Given the description of an element on the screen output the (x, y) to click on. 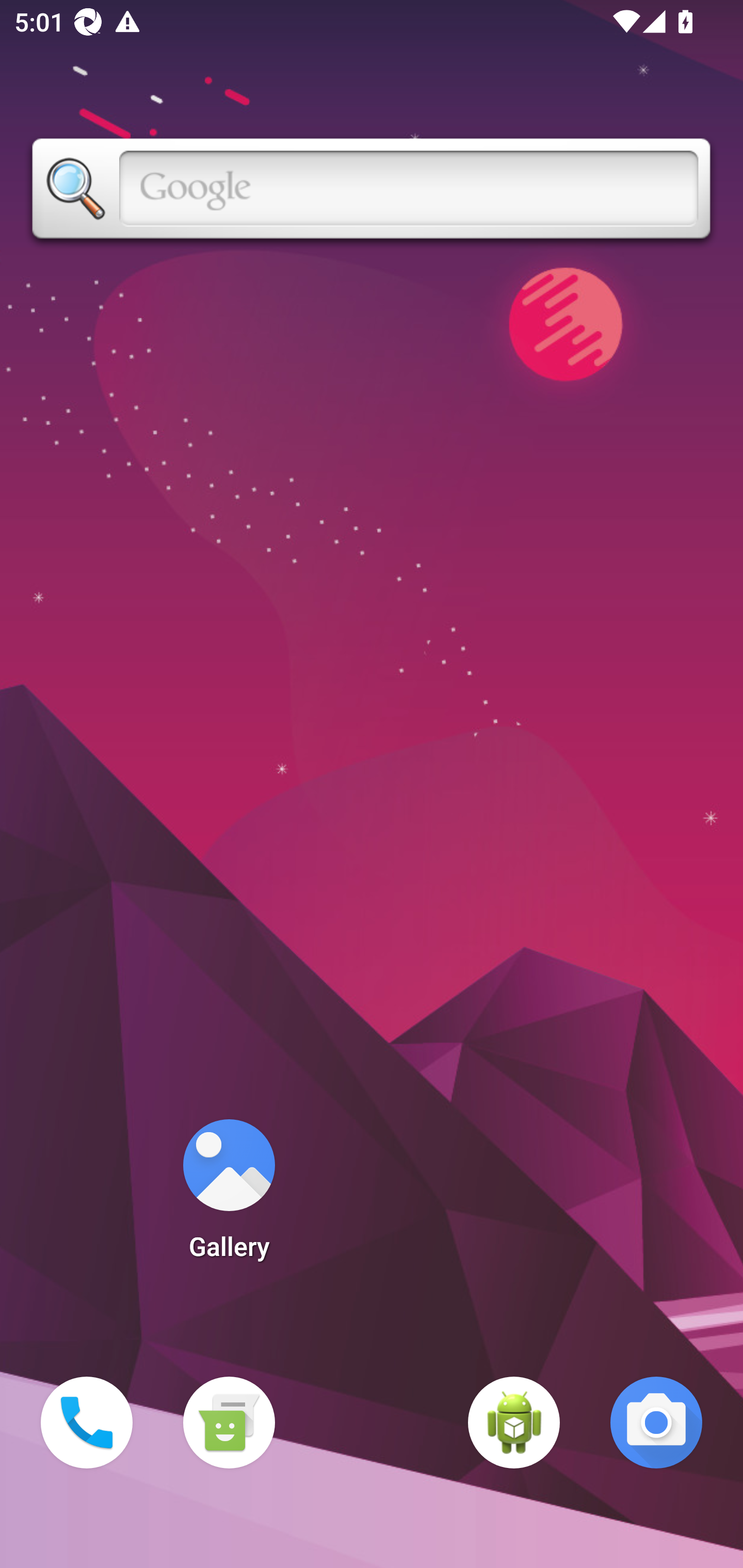
Gallery (228, 1195)
Phone (86, 1422)
Messaging (228, 1422)
WebView Browser Tester (513, 1422)
Camera (656, 1422)
